Given the description of an element on the screen output the (x, y) to click on. 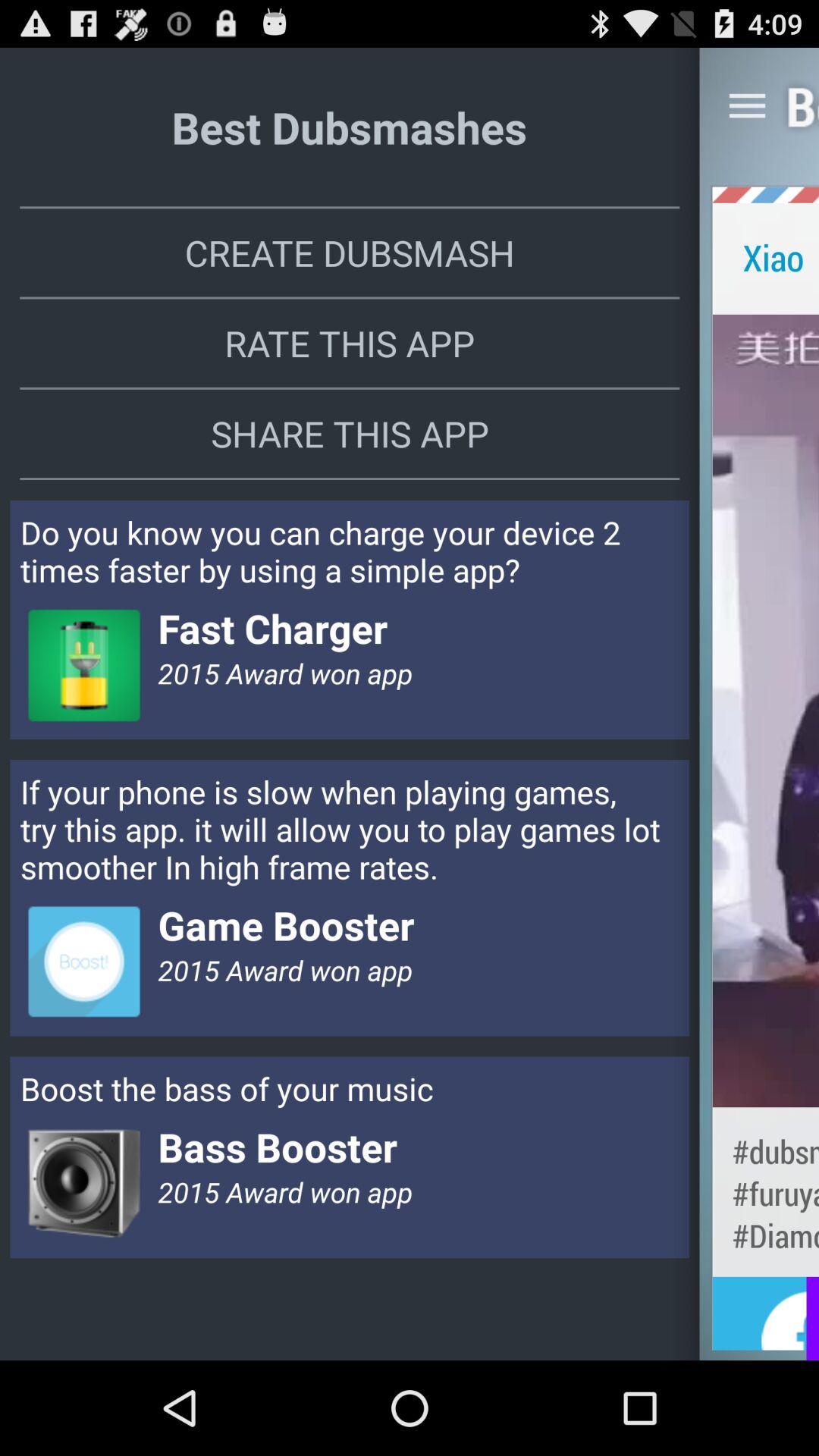
tap app below xiao (765, 710)
